Given the description of an element on the screen output the (x, y) to click on. 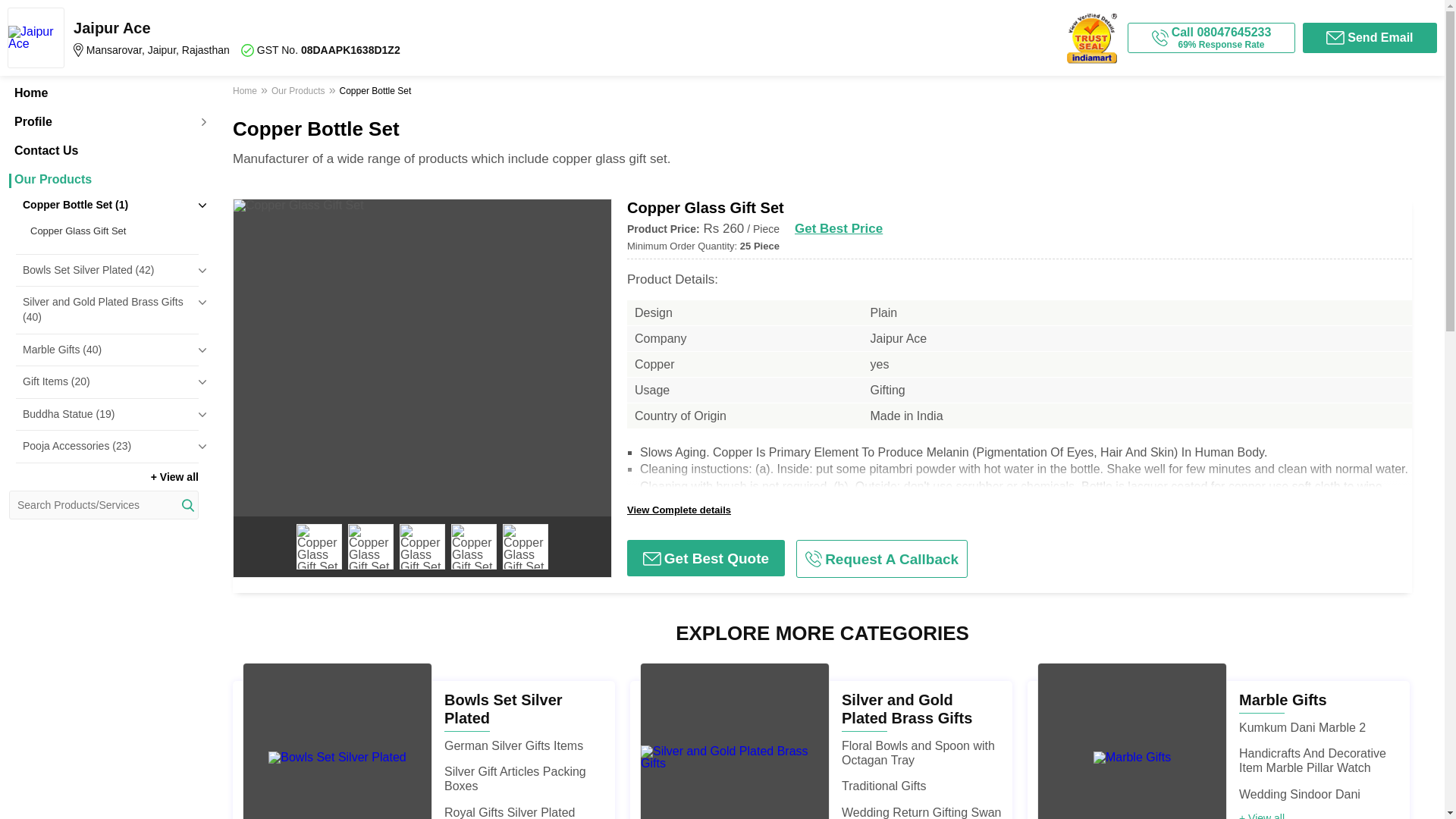
Profile (103, 121)
Our Products (103, 179)
Home (103, 92)
Contact Us (103, 150)
Copper Glass Gift Set (110, 231)
